Given the description of an element on the screen output the (x, y) to click on. 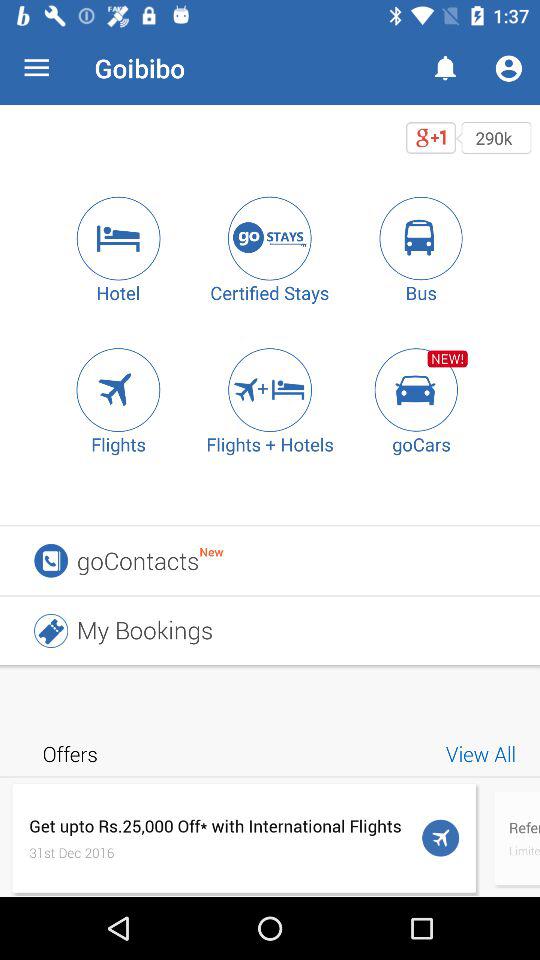
select gocars (421, 390)
